Given the description of an element on the screen output the (x, y) to click on. 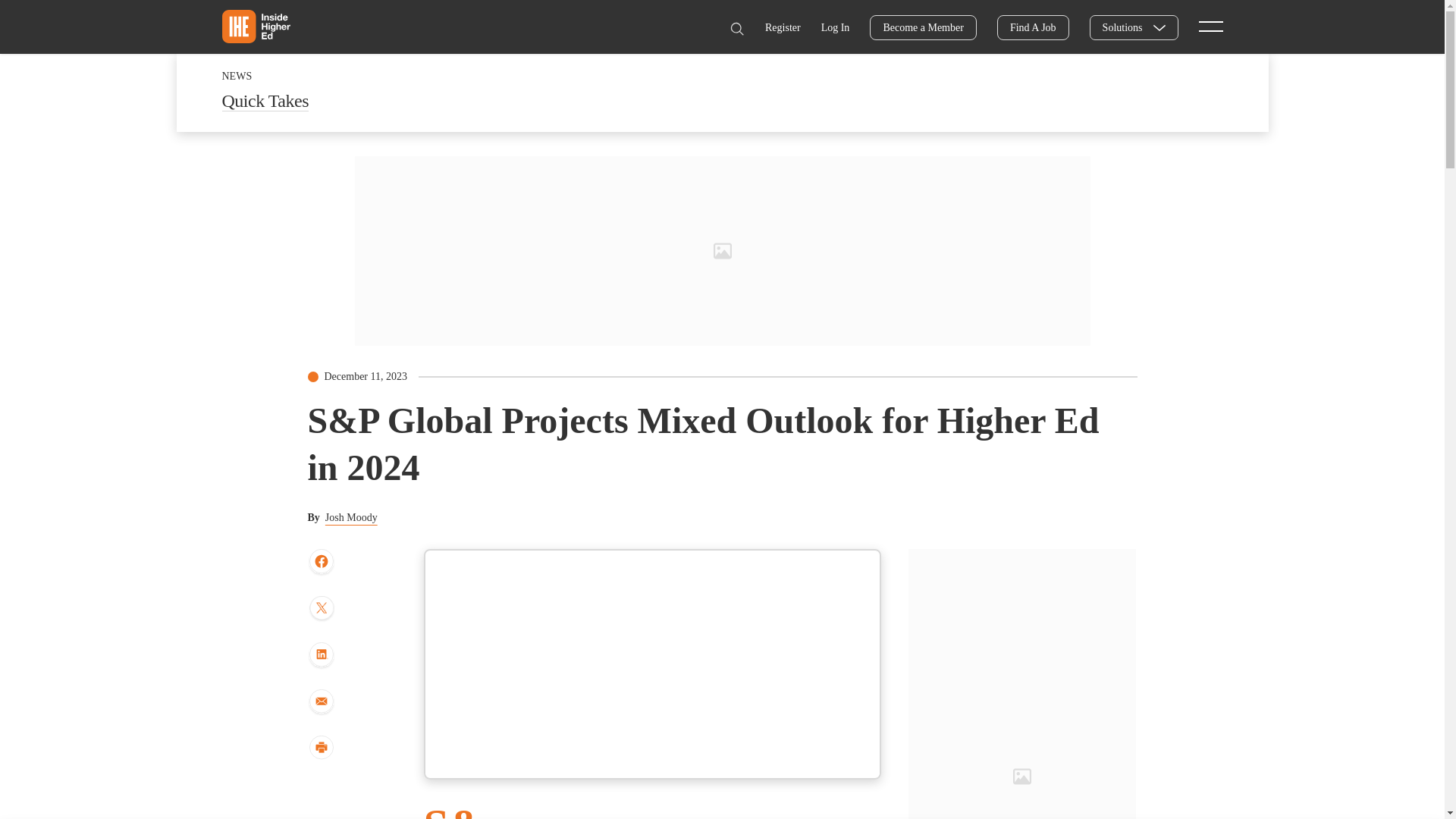
Home (255, 26)
Find A Job (1032, 27)
share to twitter (320, 609)
share by email (320, 702)
Search (736, 28)
share to Linkedin (320, 655)
share to facebook (320, 561)
Become a Member (922, 27)
